Given the description of an element on the screen output the (x, y) to click on. 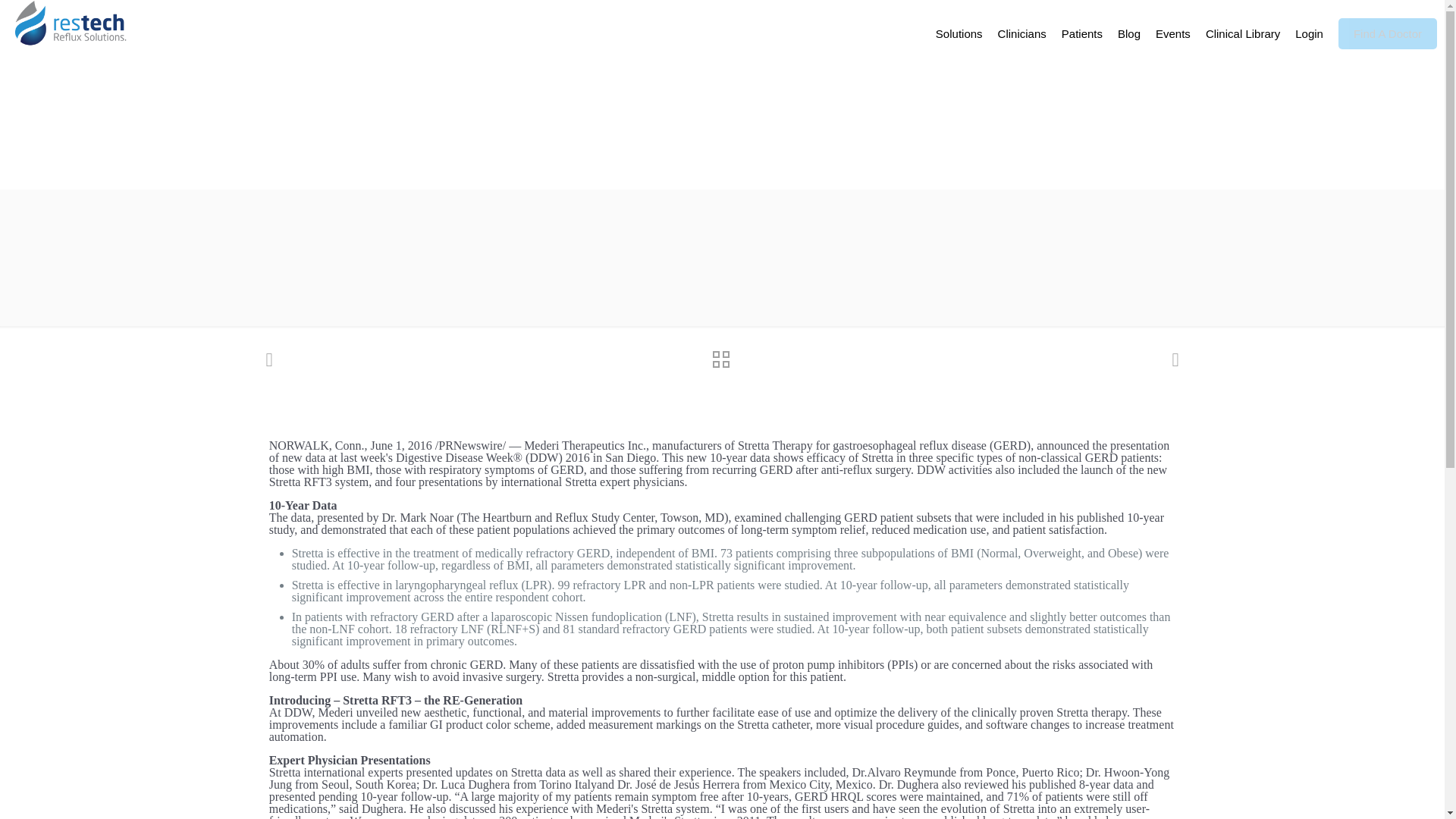
Find A Doctor (1387, 33)
Solutions (959, 33)
Clinicians (1022, 33)
Restech (70, 22)
Clinical Library (1242, 33)
